Given the description of an element on the screen output the (x, y) to click on. 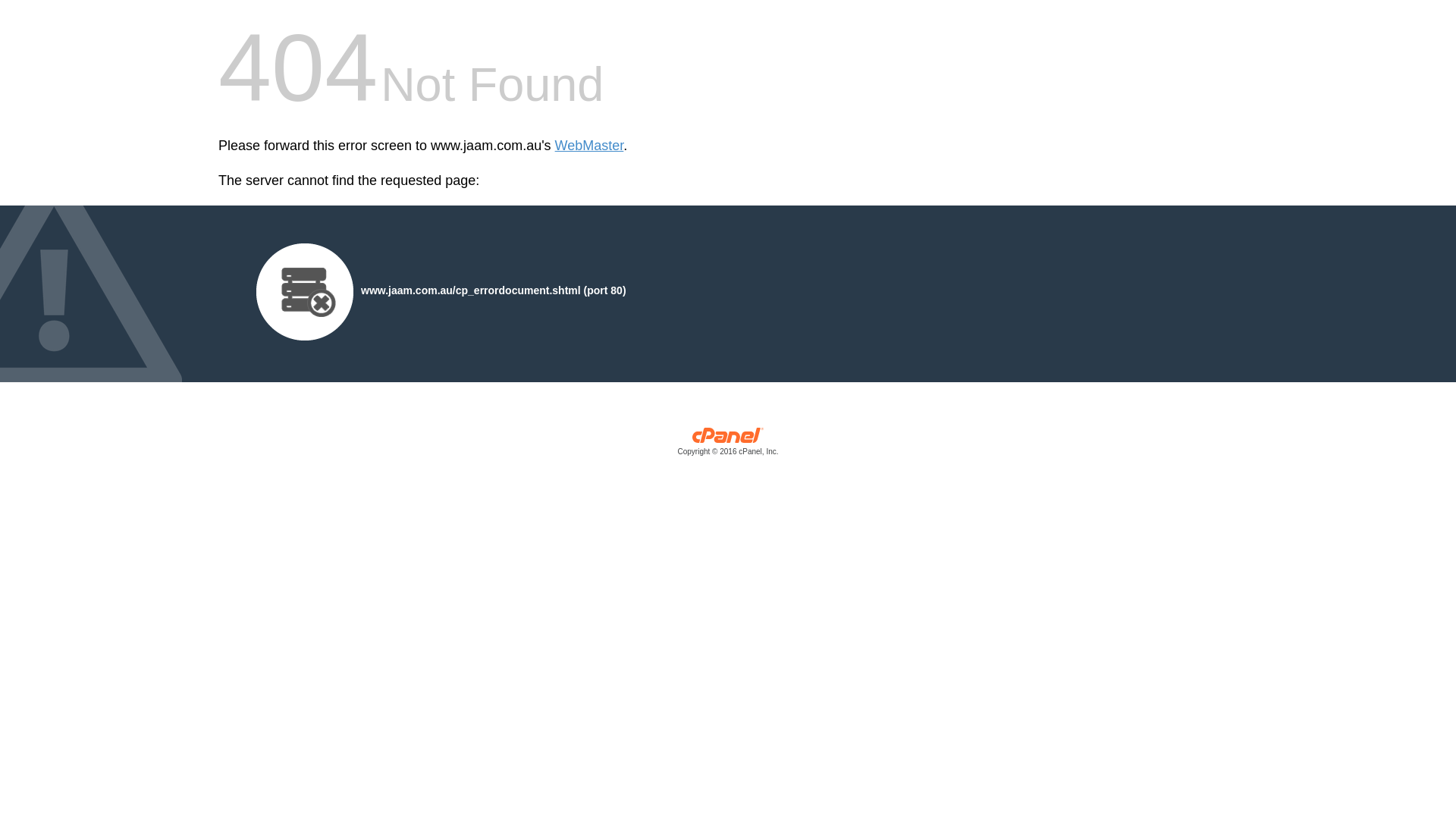
WebMaster Element type: text (589, 145)
